Given the description of an element on the screen output the (x, y) to click on. 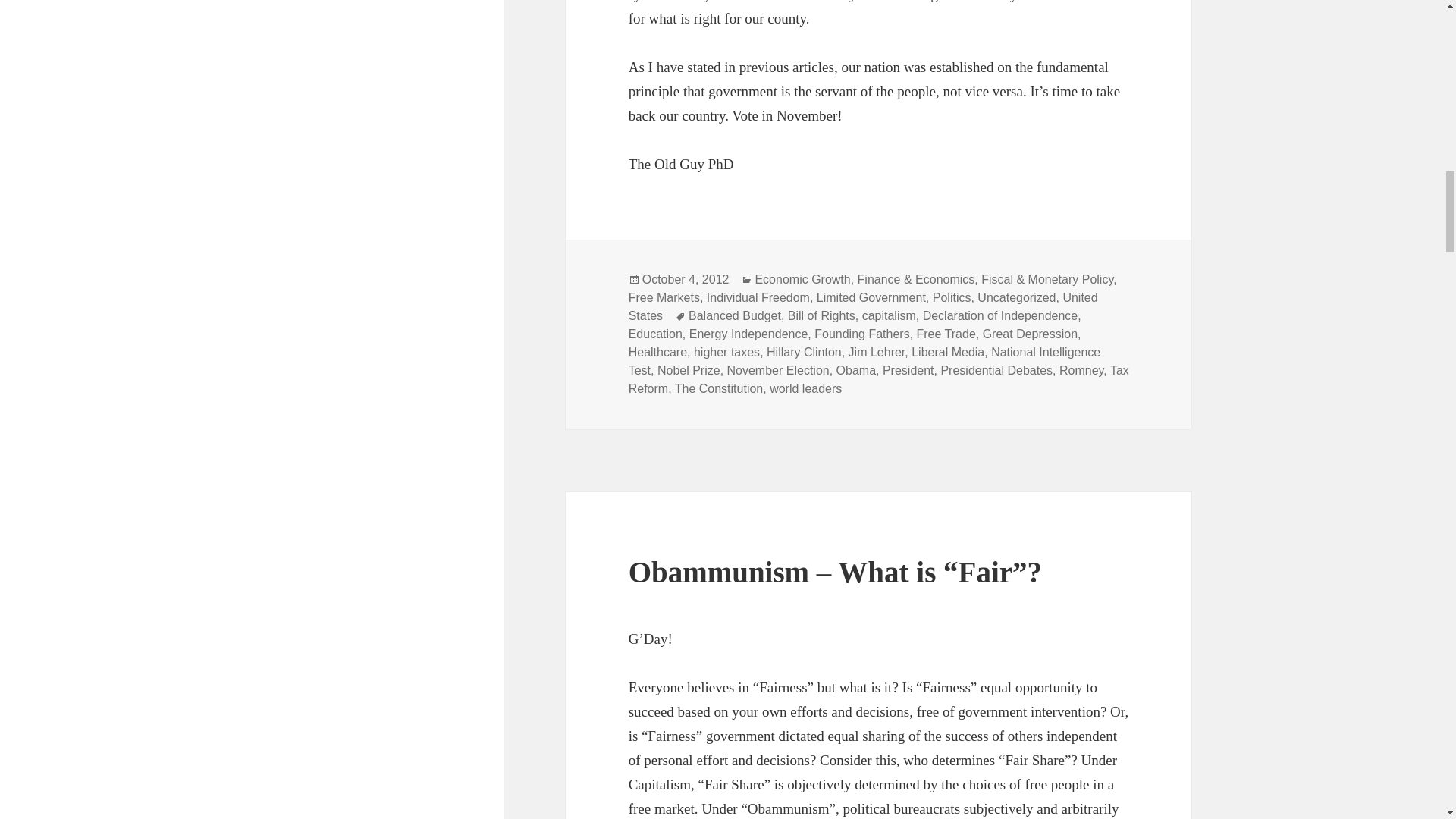
United States (862, 306)
Economic Growth (802, 279)
Energy Independence (748, 334)
Uncategorized (1015, 297)
Bill of Rights (821, 315)
Healthcare (657, 352)
Founding Fathers (860, 334)
Politics (952, 297)
October 4, 2012 (685, 279)
National Intelligence Test (864, 361)
Declaration of Independence (1000, 315)
Free Trade (946, 334)
higher taxes (727, 352)
Limited Government (871, 297)
Individual Freedom (757, 297)
